Given the description of an element on the screen output the (x, y) to click on. 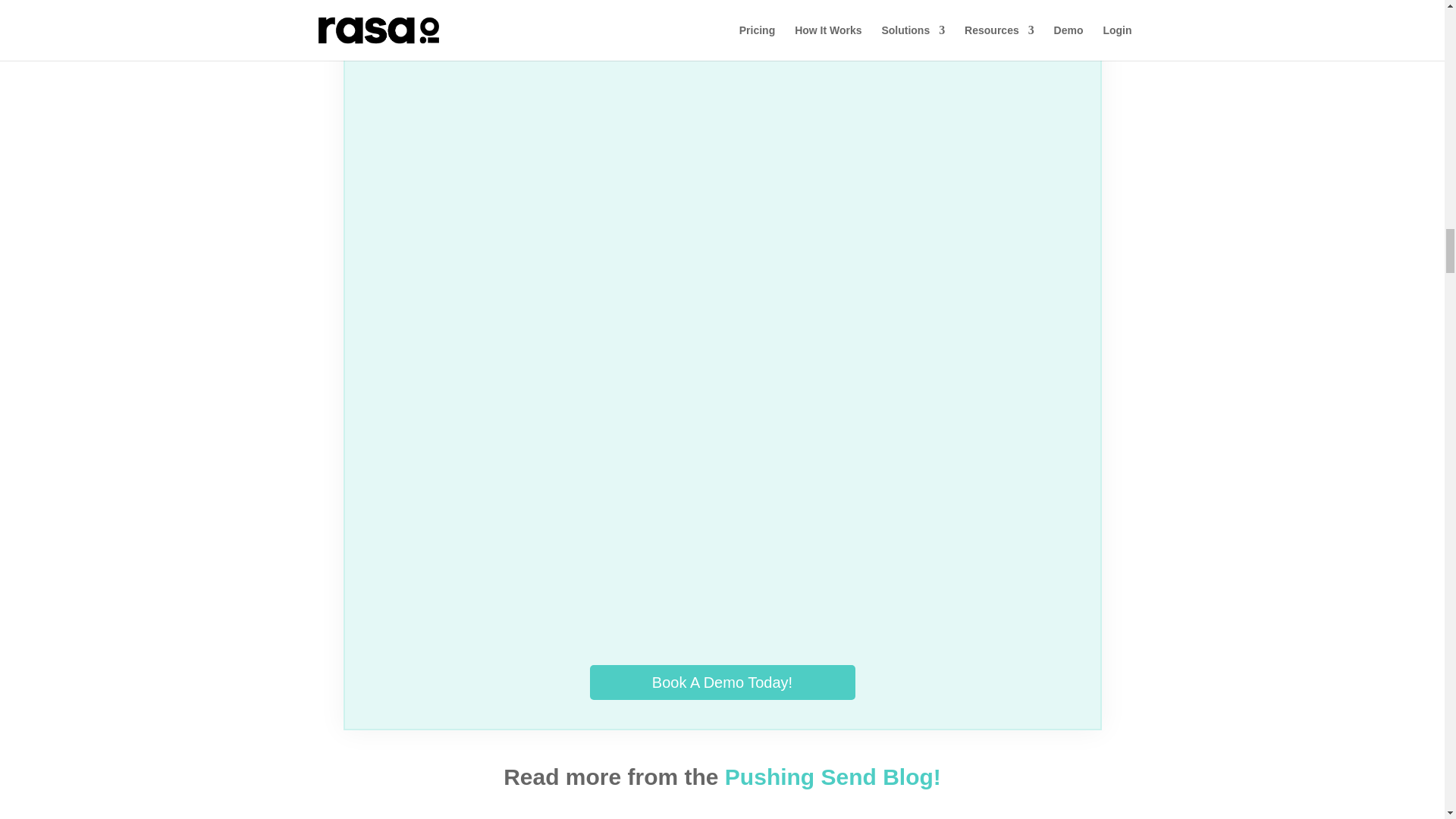
Book A Demo Today! (722, 681)
Pushing Send Blog! (832, 776)
